Given the description of an element on the screen output the (x, y) to click on. 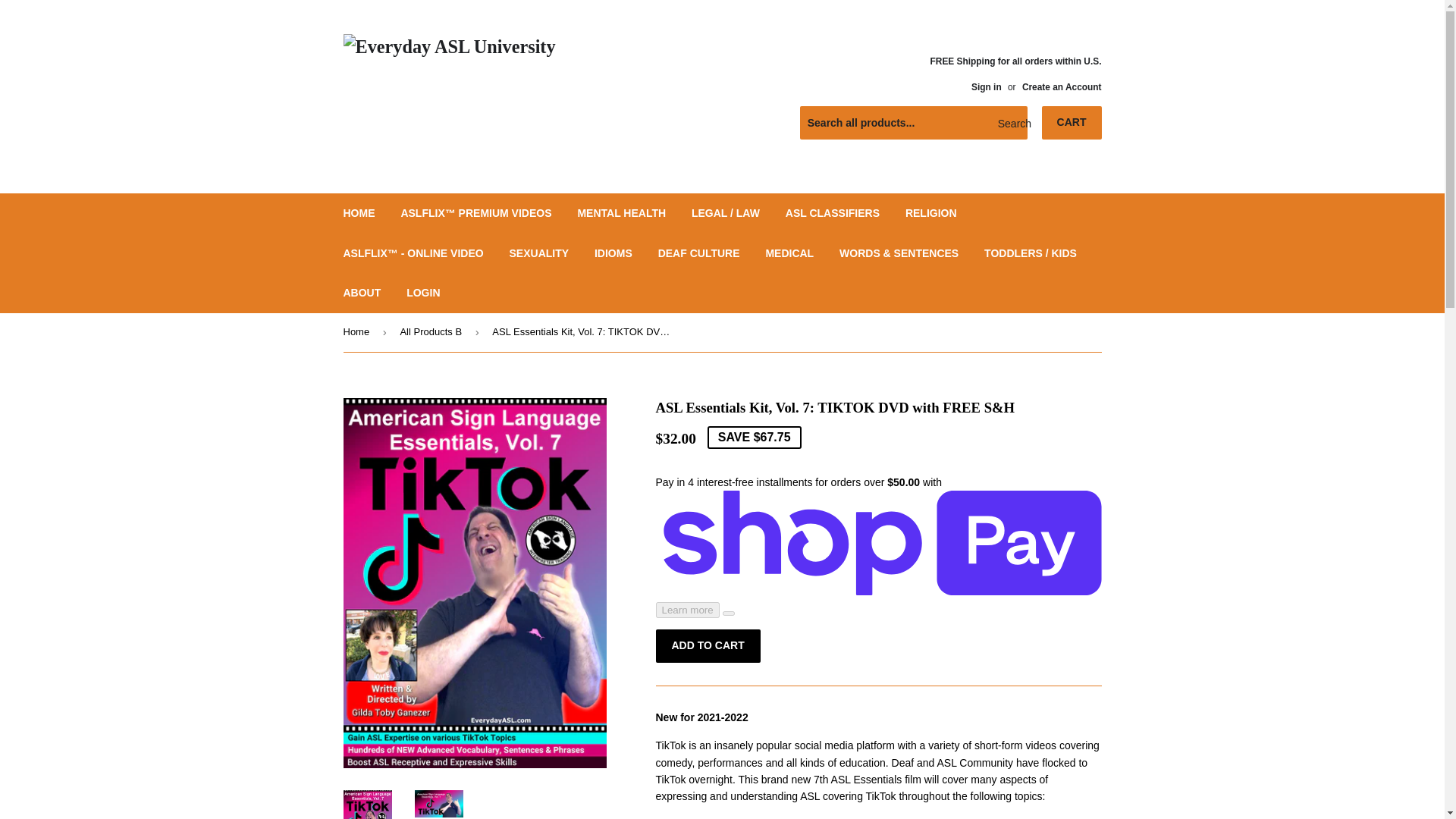
ASL CLASSIFIERS (832, 212)
Search (1009, 123)
Sign in (986, 86)
SEXUALITY (538, 252)
ABOUT (362, 292)
MEDICAL (789, 252)
CART (1072, 122)
MENTAL HEALTH (621, 212)
RELIGION (930, 212)
FREE Shipping for all orders within U.S. (1016, 73)
